Given the description of an element on the screen output the (x, y) to click on. 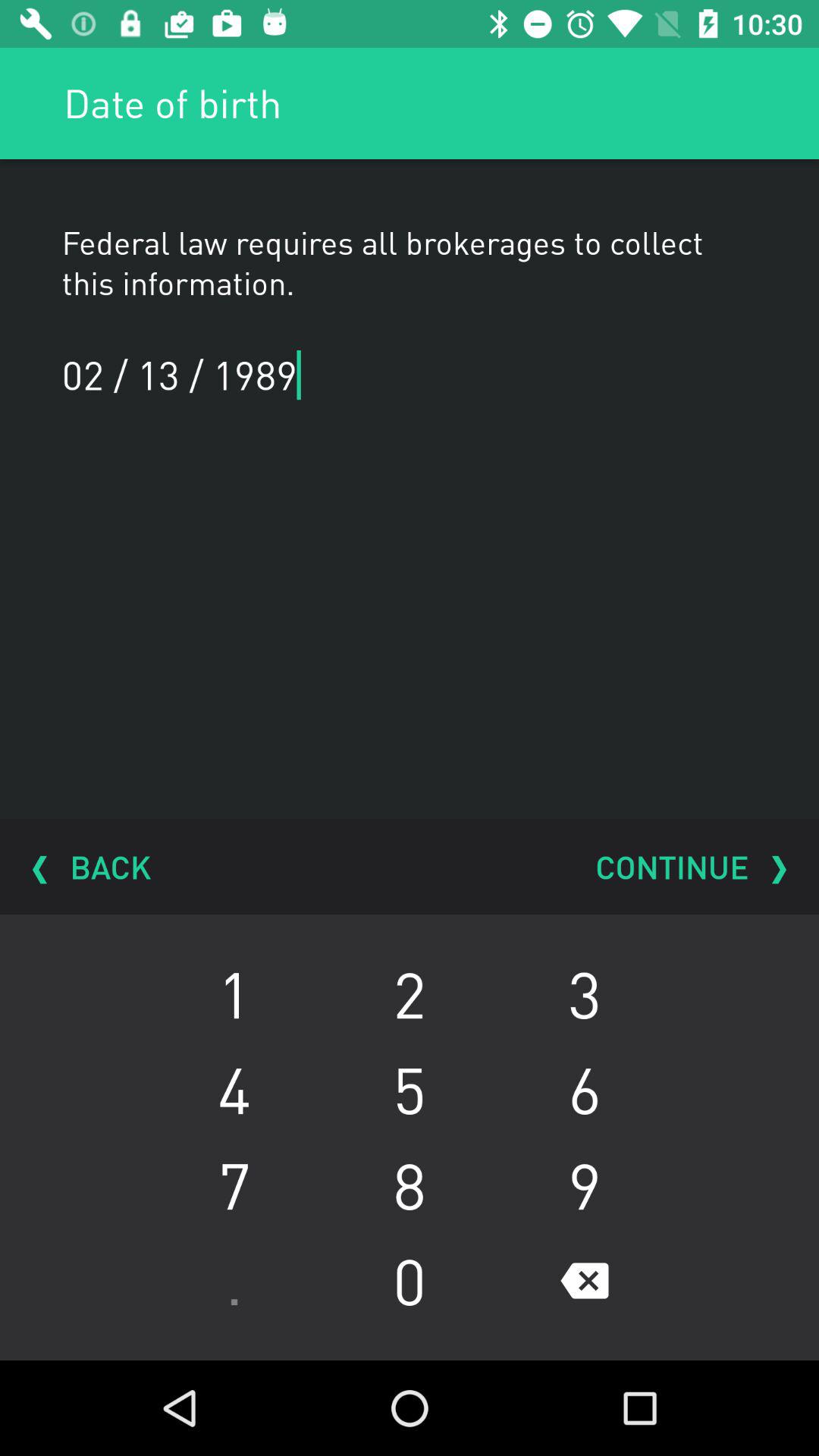
click icon next to the 2 (233, 1089)
